Given the description of an element on the screen output the (x, y) to click on. 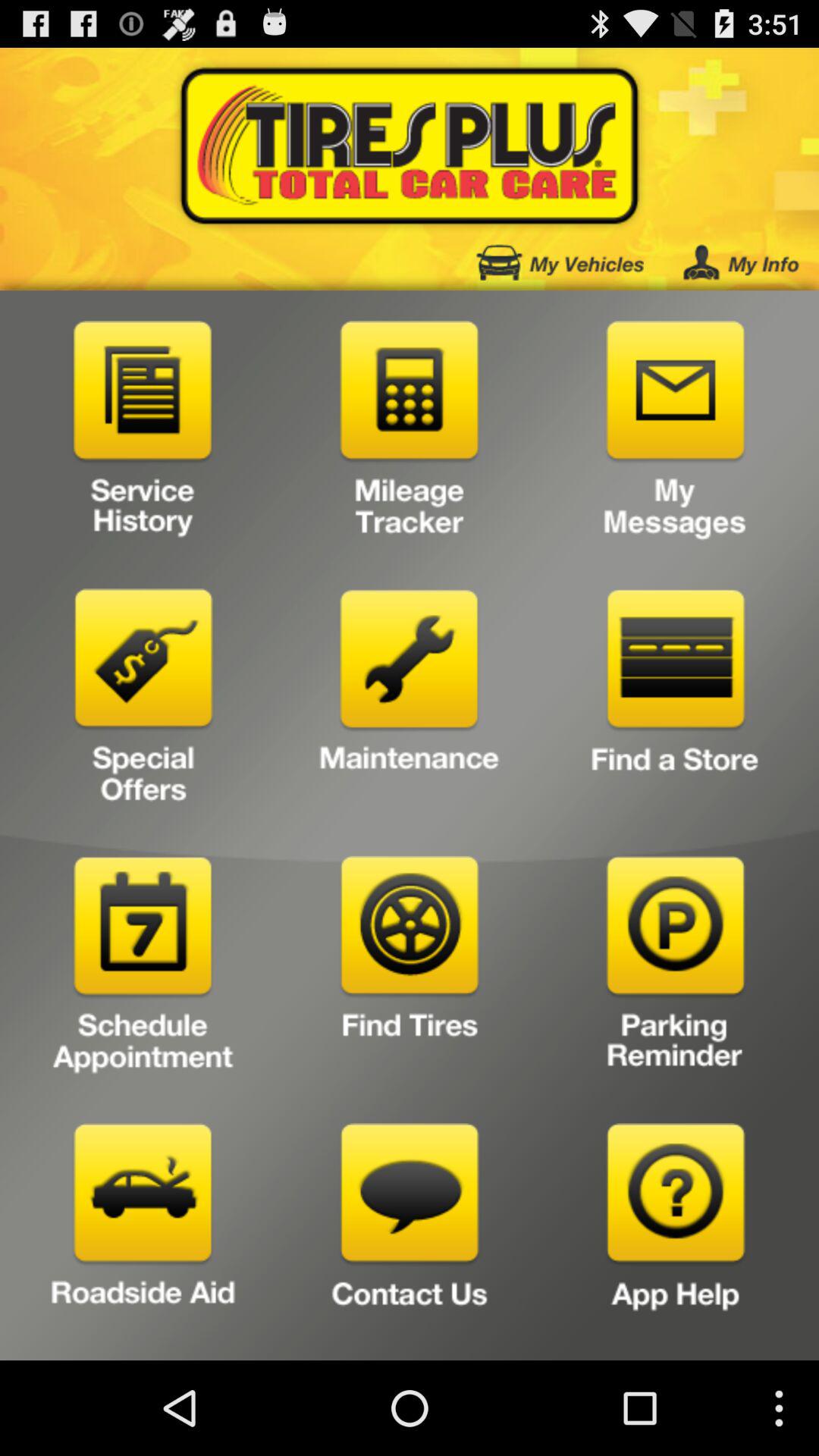
button to go to special offers (142, 701)
